Given the description of an element on the screen output the (x, y) to click on. 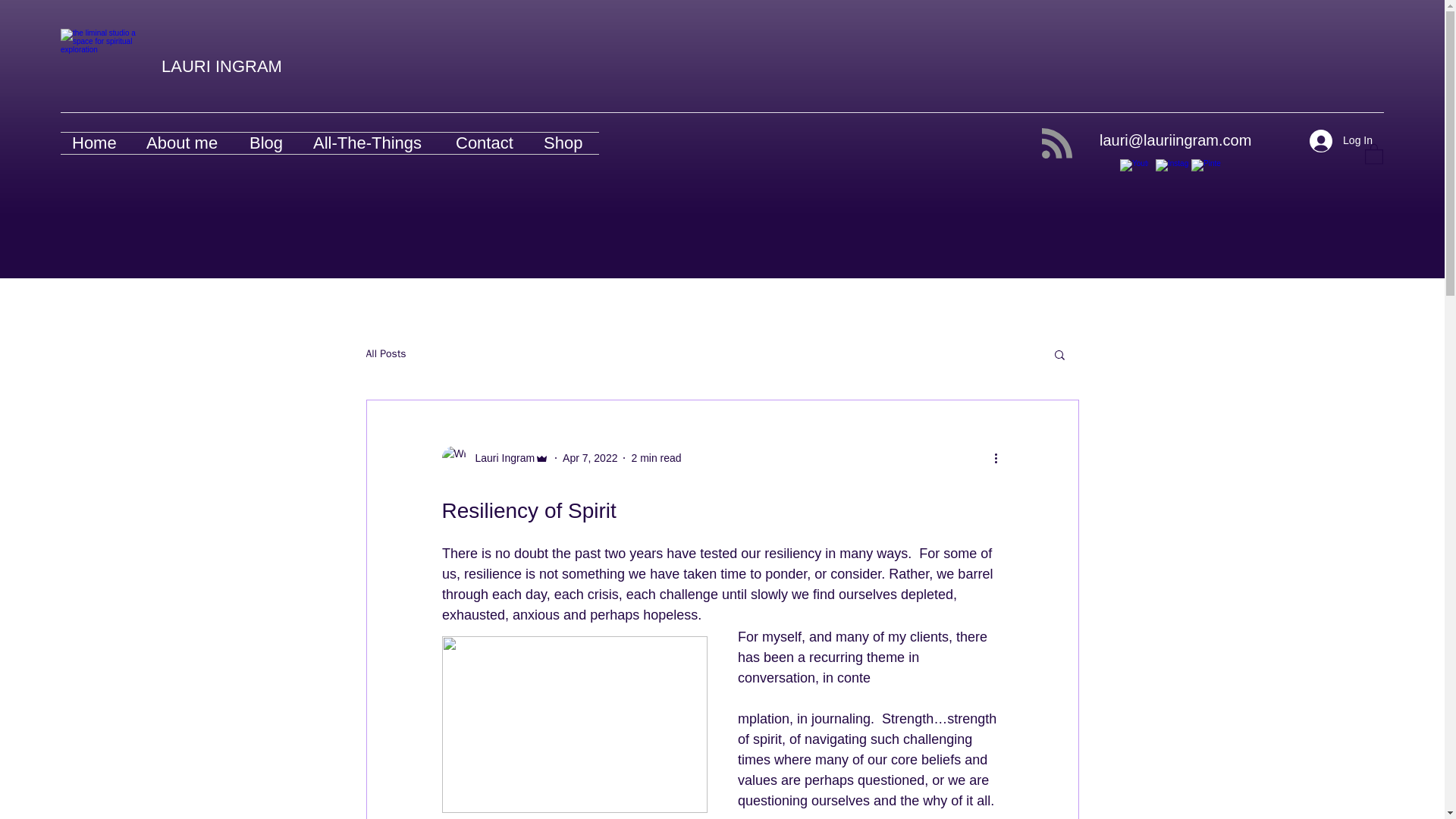
Contact (488, 142)
Log In (1340, 141)
Lauri Ingram (494, 457)
Blog (269, 142)
2 min read (655, 458)
About me (186, 142)
Lauri Ingram (499, 458)
Apr 7, 2022 (589, 458)
Home (98, 142)
LAURI INGRAM (221, 66)
Shop (565, 142)
All-The-Things (372, 142)
All Posts (385, 354)
